Given the description of an element on the screen output the (x, y) to click on. 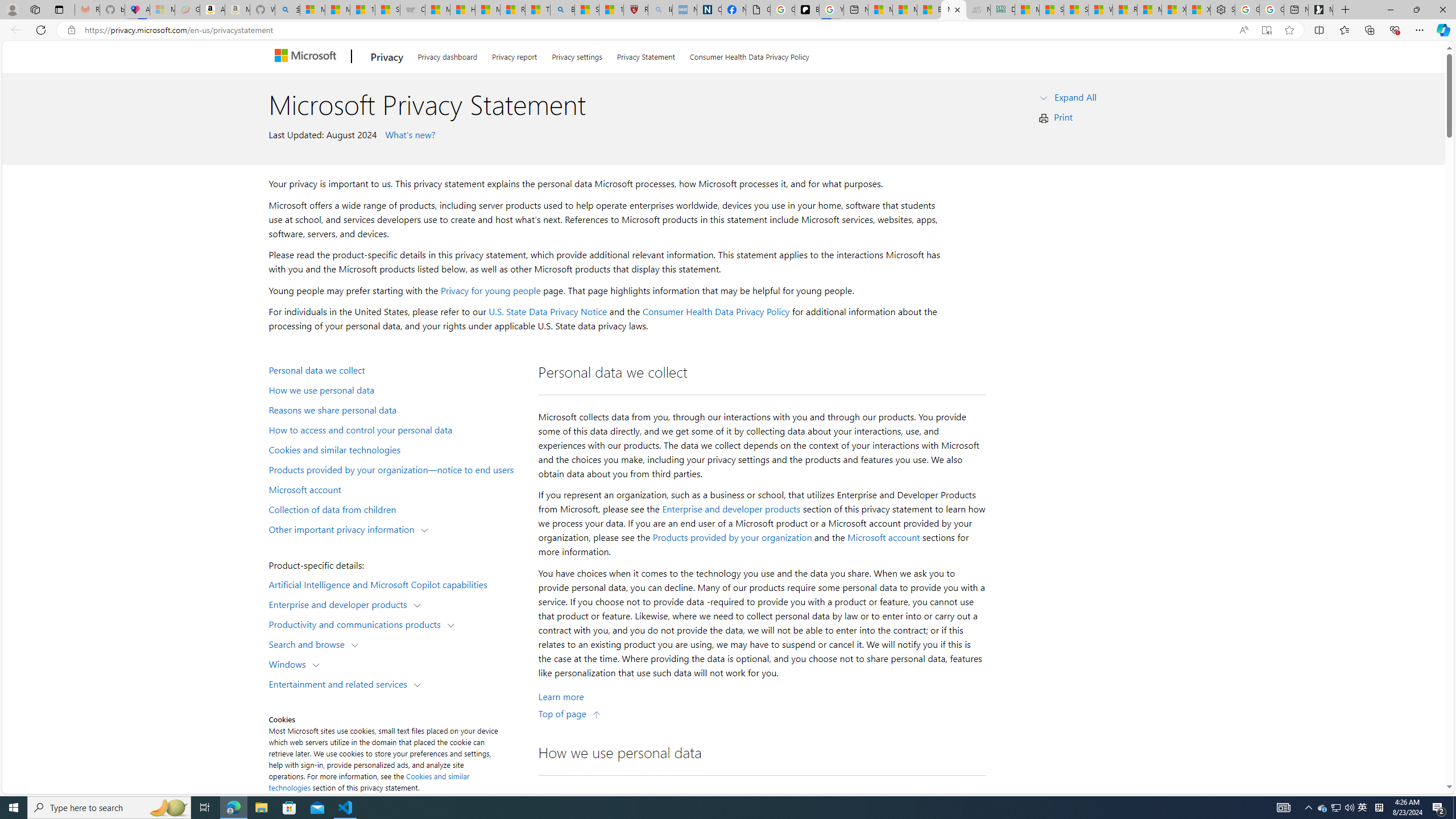
Enterprise and developer products (340, 603)
Google Analytics Opt-out Browser Add-on Download Page (757, 9)
Privacy for young people (489, 290)
Consumer Health Data Privacy Policy (748, 54)
Expand All (1075, 96)
12 Popular Science Lies that Must be Corrected (611, 9)
